Given the description of an element on the screen output the (x, y) to click on. 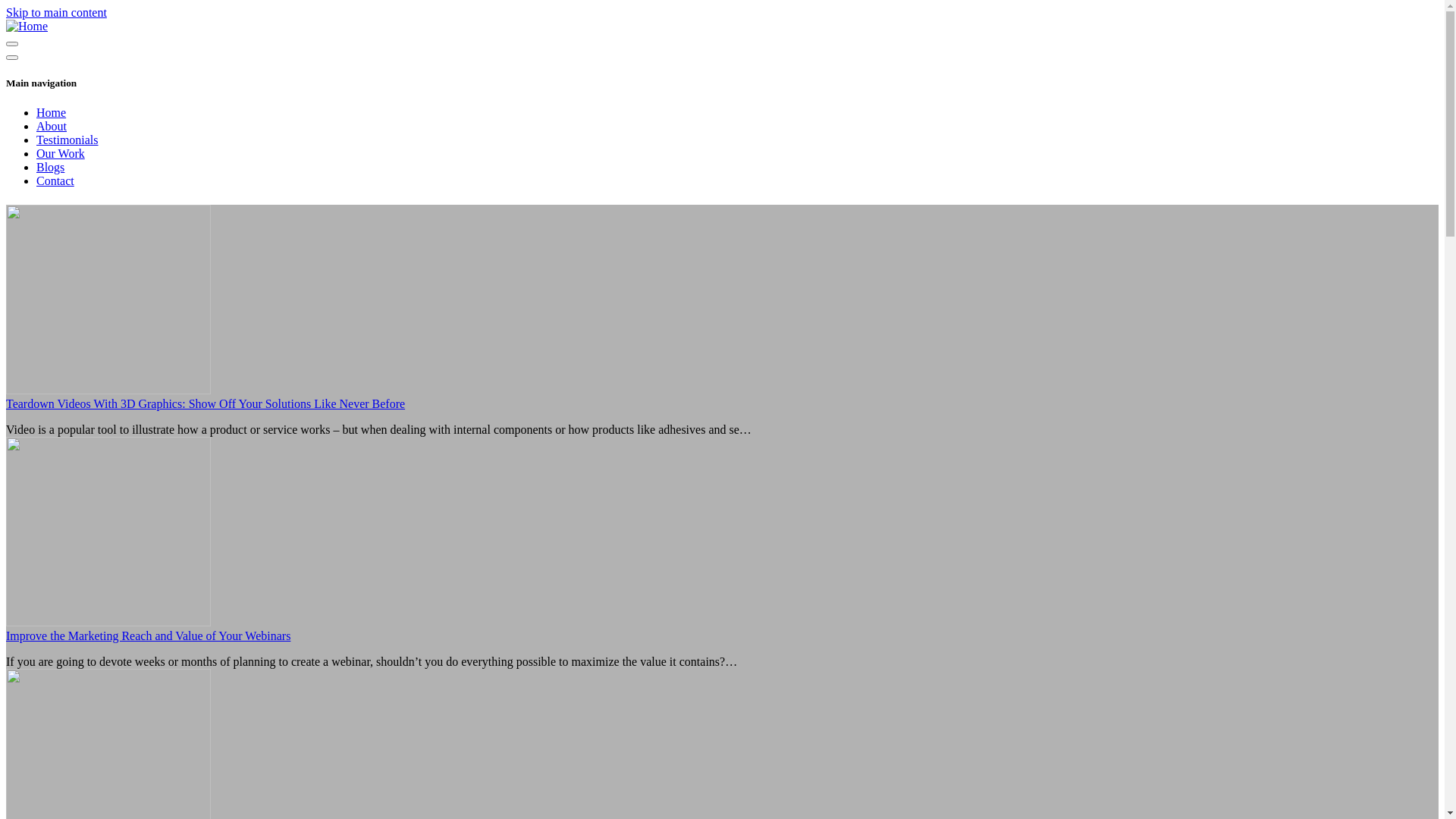
Improve the Marketing Reach and Value of Your Webinars Element type: text (148, 635)
Testimonials Element type: text (67, 139)
Home Element type: hover (26, 25)
Skip to main content Element type: text (56, 12)
Blogs Element type: text (50, 166)
Our Work Element type: text (60, 153)
Contact Element type: text (55, 180)
About Element type: text (51, 125)
Home Element type: text (50, 112)
